Given the description of an element on the screen output the (x, y) to click on. 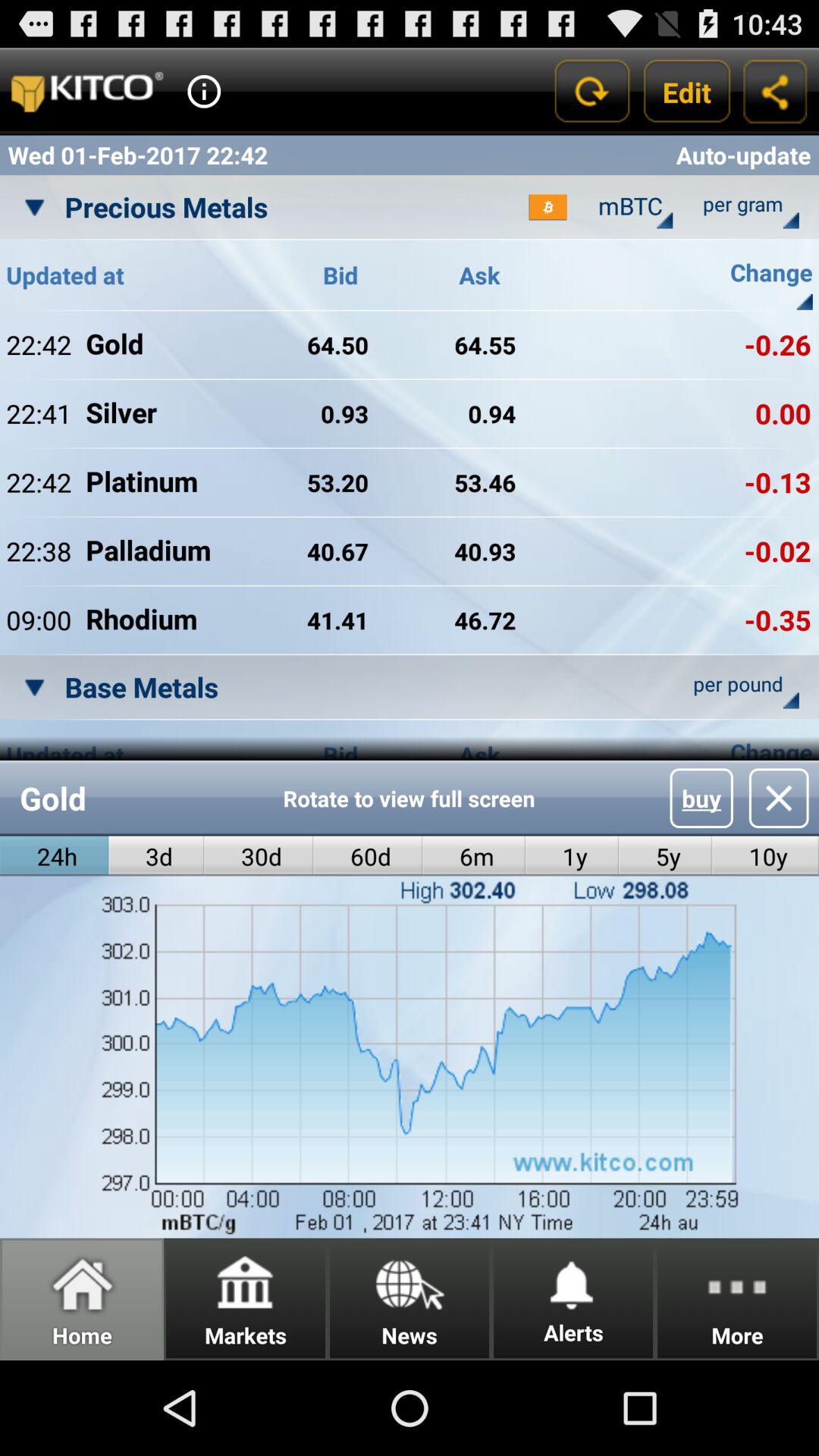
copy link (775, 91)
